Given the description of an element on the screen output the (x, y) to click on. 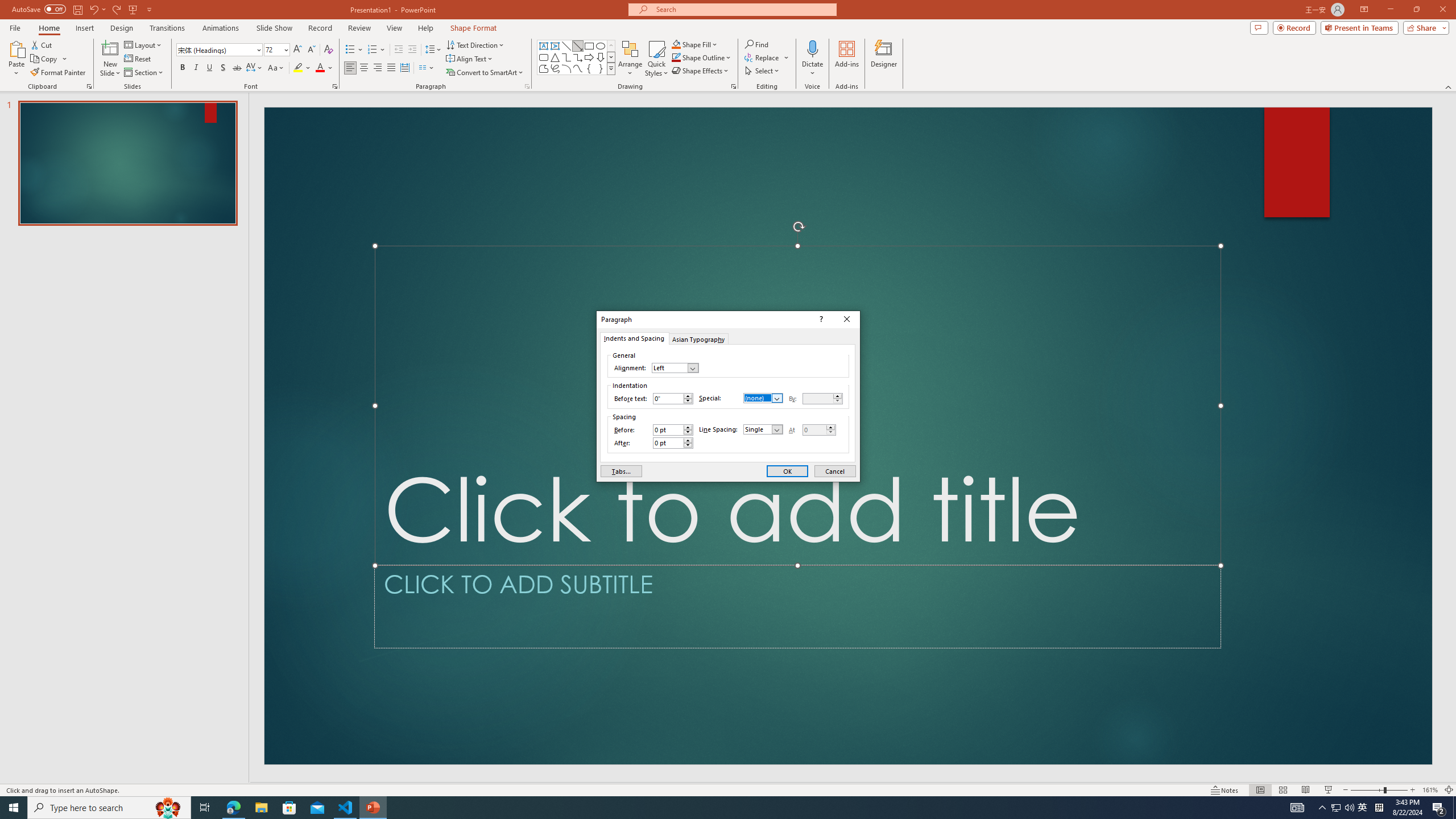
Before (667, 429)
Vertical Text Box (554, 45)
Indents and Spacing (633, 337)
Tabs... (620, 470)
Rectangle (589, 45)
Justify (390, 67)
Convert to SmartArt (485, 72)
Center (363, 67)
At (814, 429)
